Given the description of an element on the screen output the (x, y) to click on. 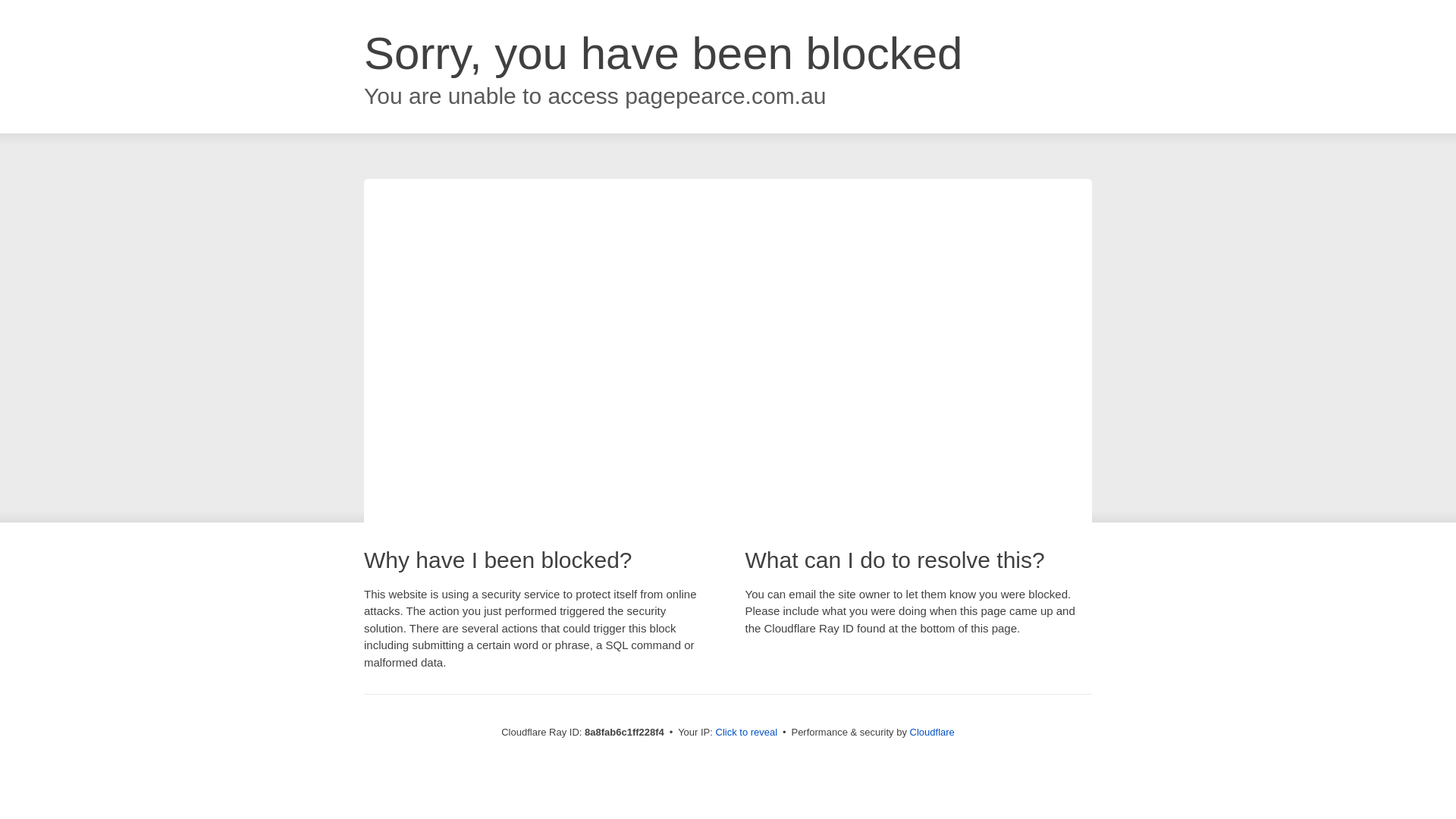
Click to reveal (746, 732)
Cloudflare (932, 731)
